Given the description of an element on the screen output the (x, y) to click on. 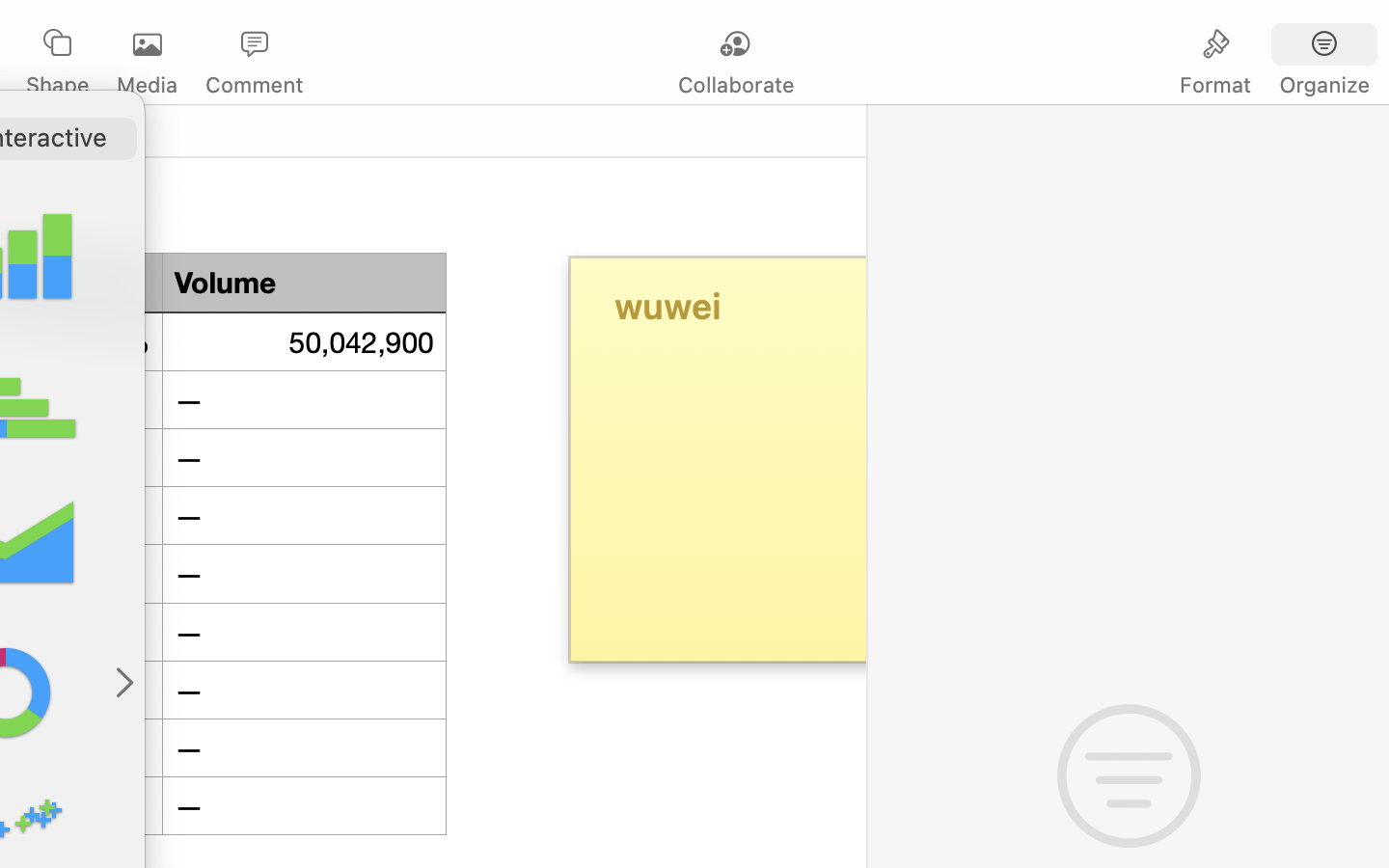
Format Element type: AXStaticText (1215, 84)
